Given the description of an element on the screen output the (x, y) to click on. 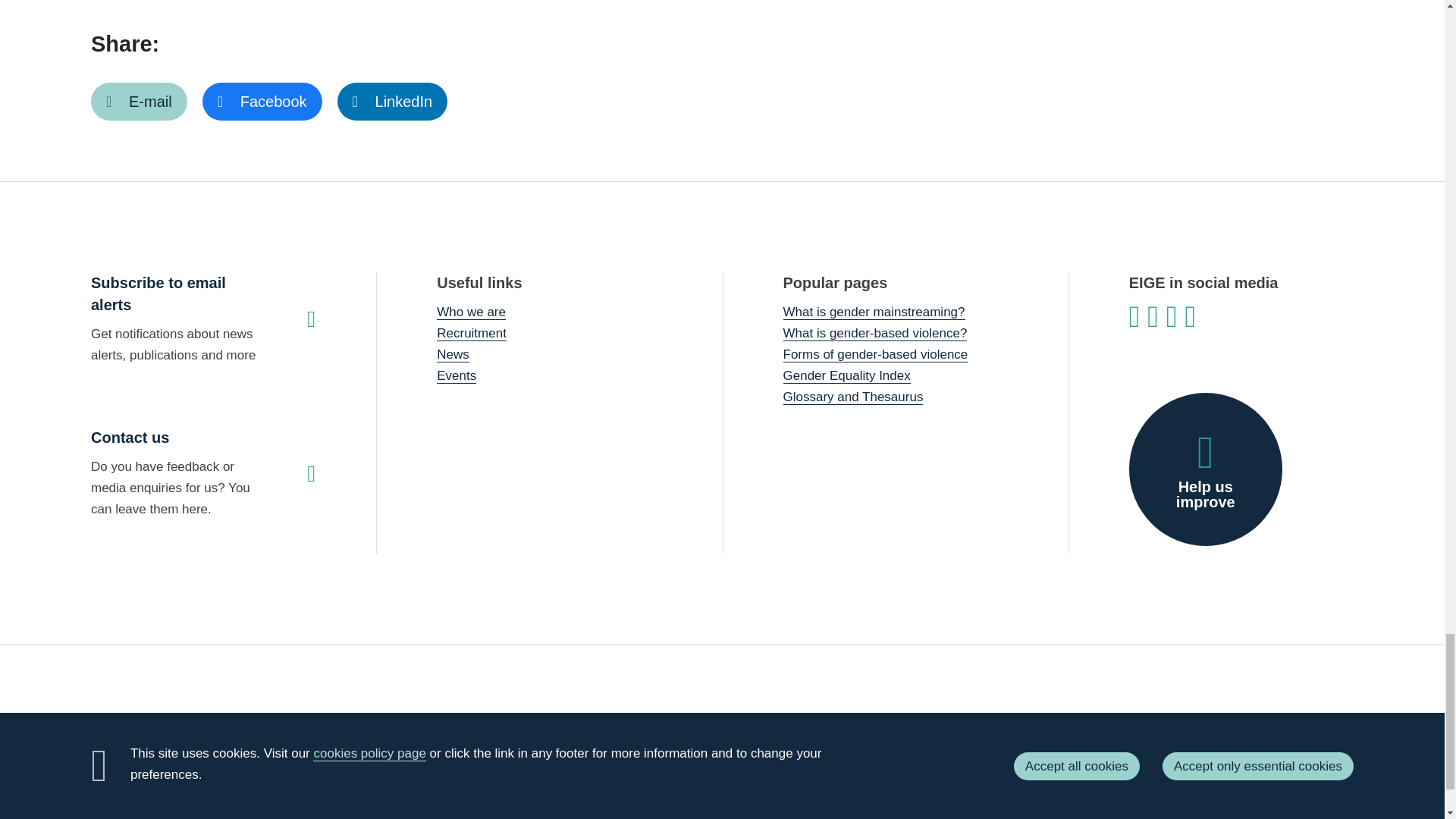
Facebook (261, 101)
LinkedIn (392, 101)
E-mail (138, 101)
